Given the description of an element on the screen output the (x, y) to click on. 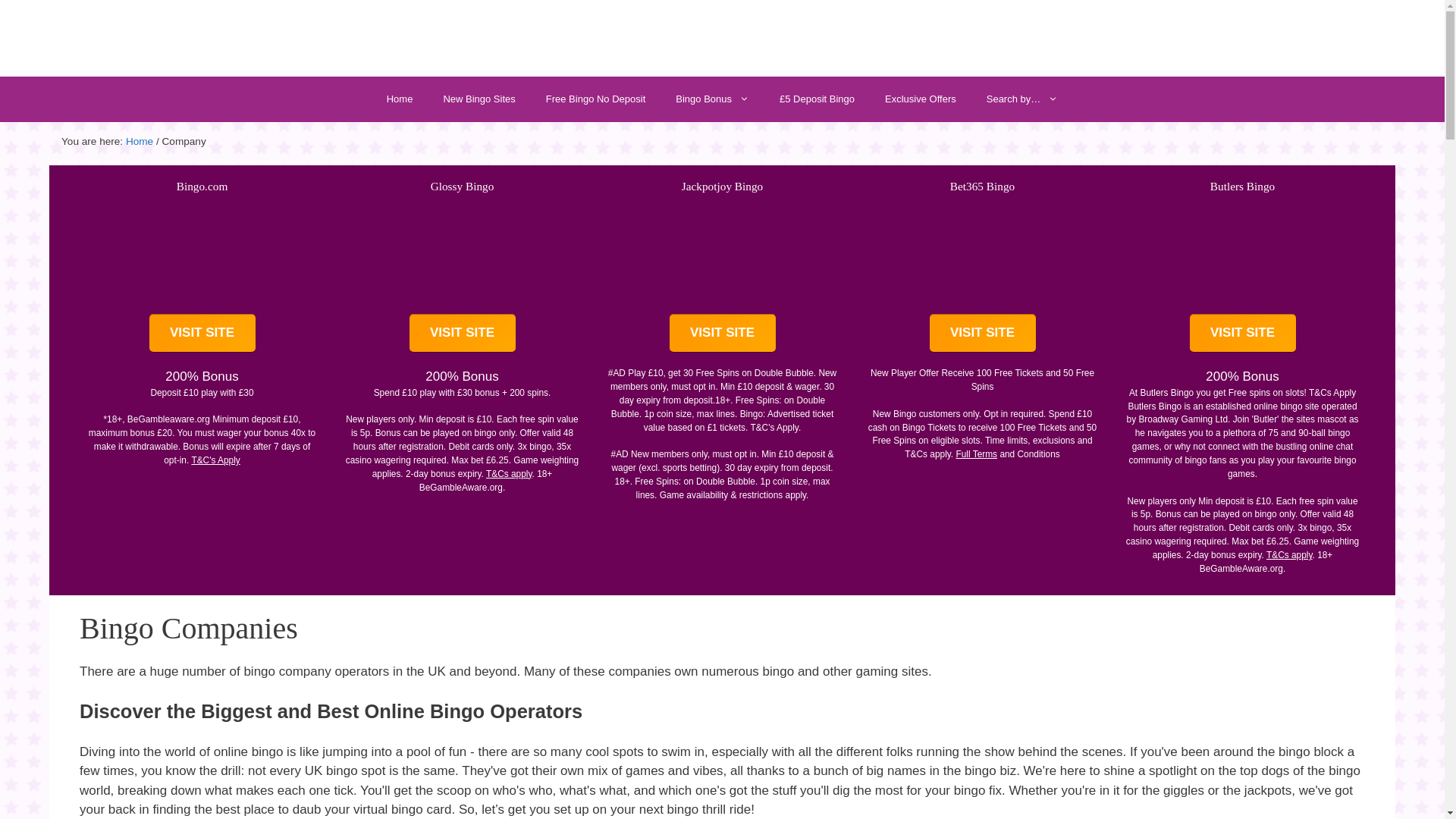
View (462, 185)
Play (201, 332)
Play (1242, 332)
Play (982, 332)
View (721, 185)
Free Bingo No Deposit (596, 99)
Bingo Bonus (712, 99)
Home (138, 141)
VISIT SITE (201, 332)
Home (399, 99)
